Given the description of an element on the screen output the (x, y) to click on. 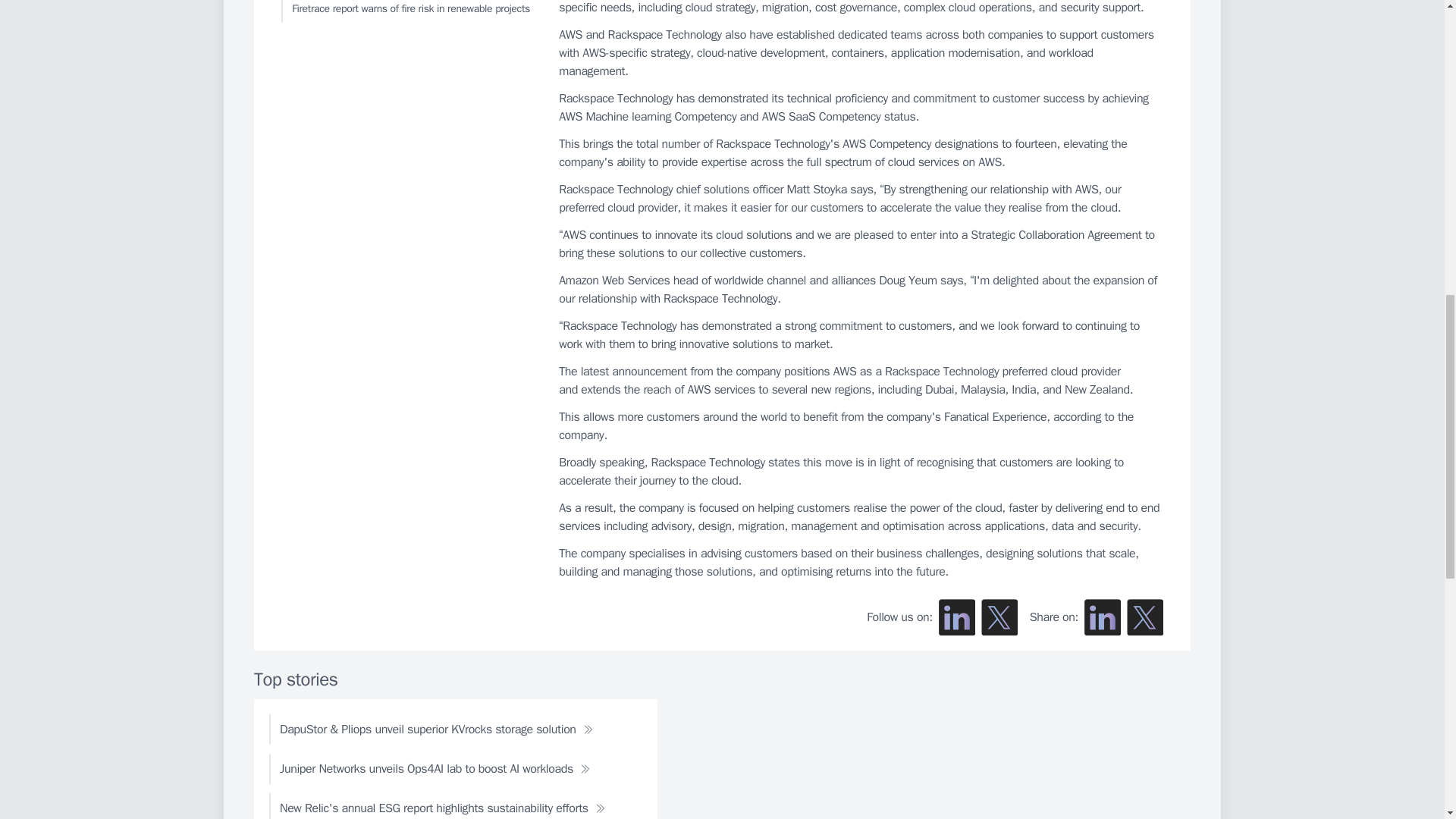
Firetrace report warns of fire risk in renewable projects (406, 11)
Juniper Networks unveils Ops4AI lab to boost AI workloads (434, 768)
